Given the description of an element on the screen output the (x, y) to click on. 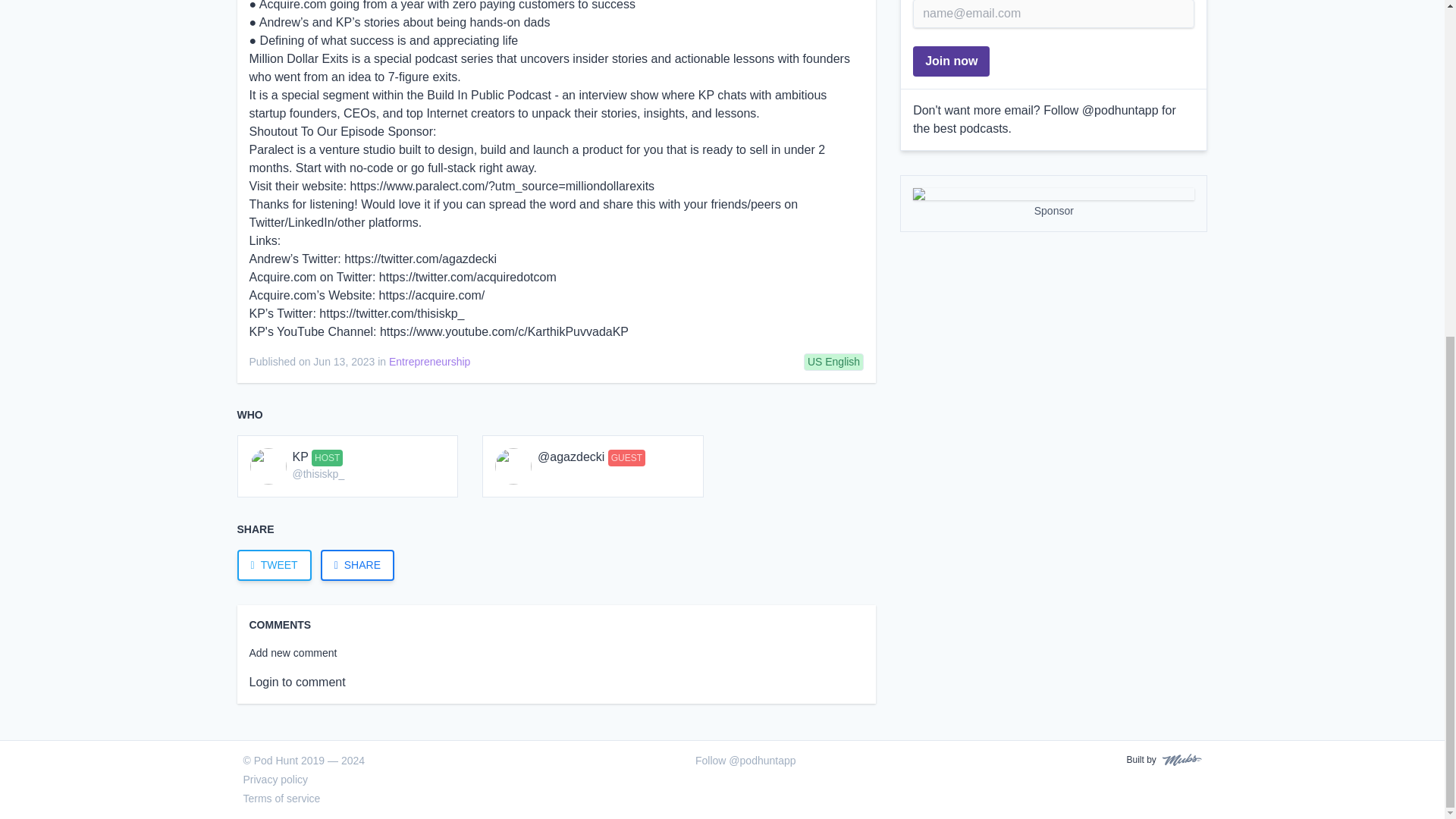
Join now (951, 60)
SHARE (357, 564)
Privacy policy (275, 779)
Terms of service (281, 798)
Login to comment (296, 681)
TWEET (273, 564)
Mubs - Mubashar Iqbal (1179, 759)
SHARE (361, 564)
TWEET (277, 564)
Entrepreneurship (429, 361)
